Given the description of an element on the screen output the (x, y) to click on. 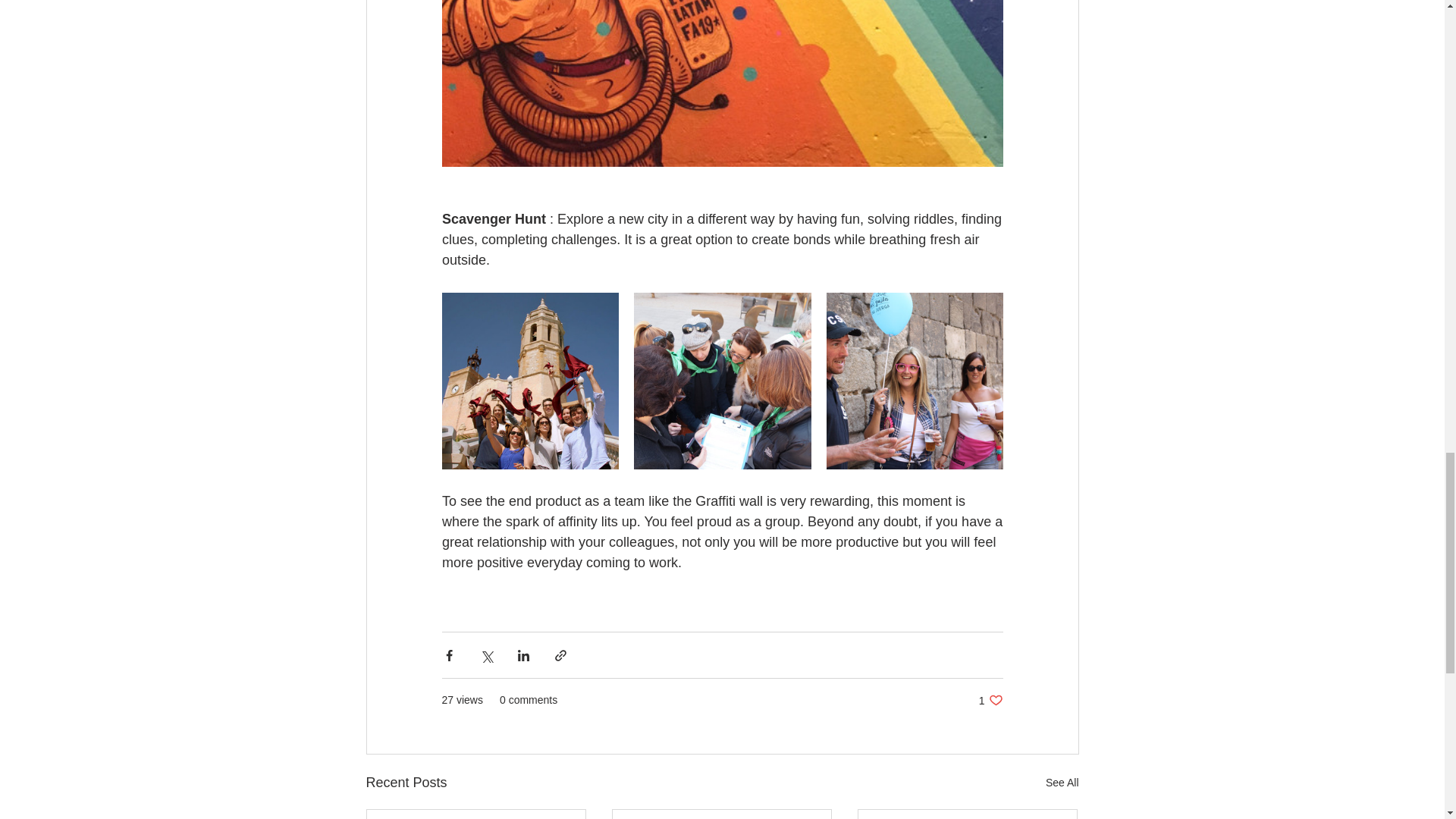
See All (990, 699)
